Given the description of an element on the screen output the (x, y) to click on. 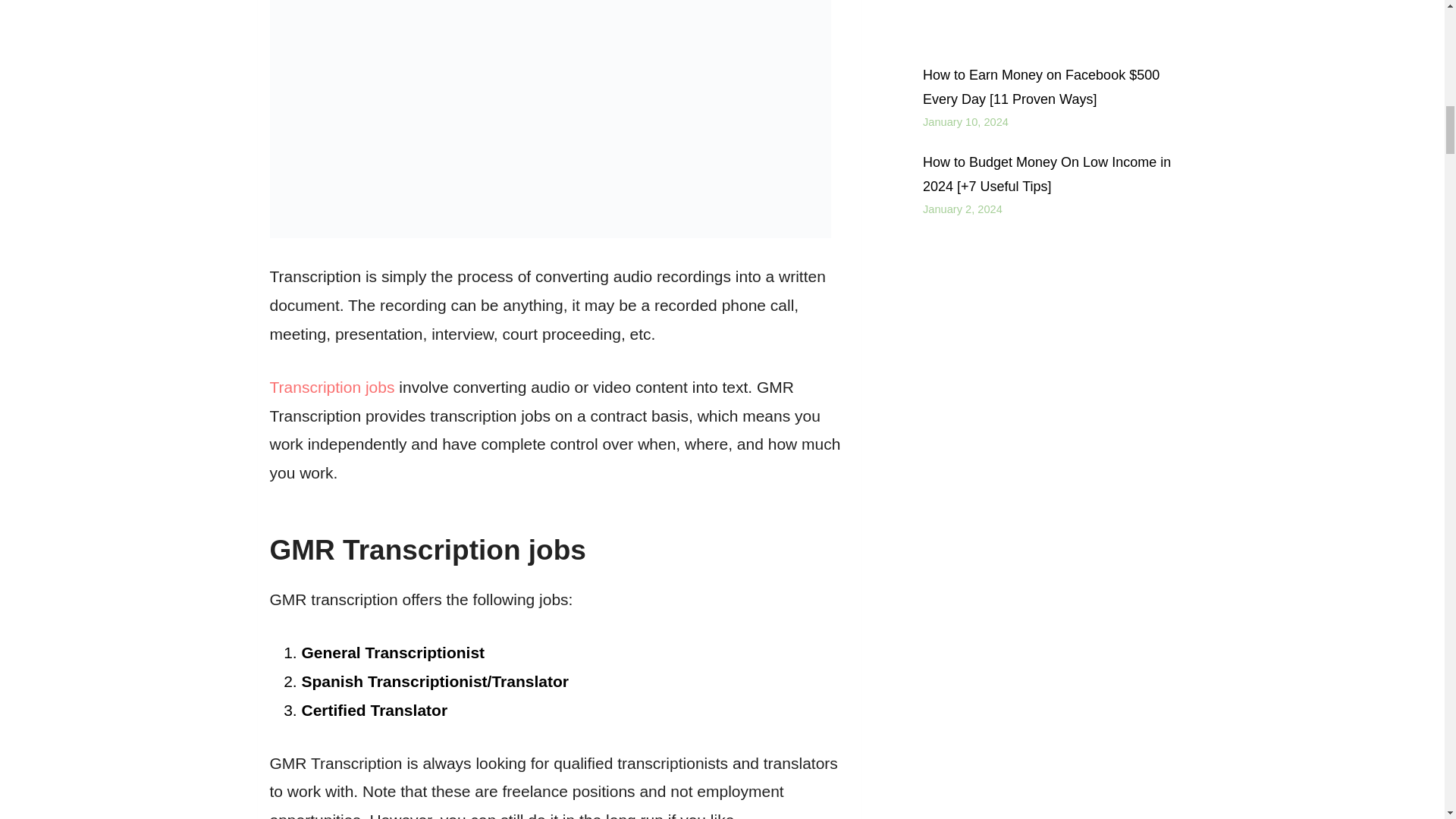
Transcription jobs (331, 386)
